Given the description of an element on the screen output the (x, y) to click on. 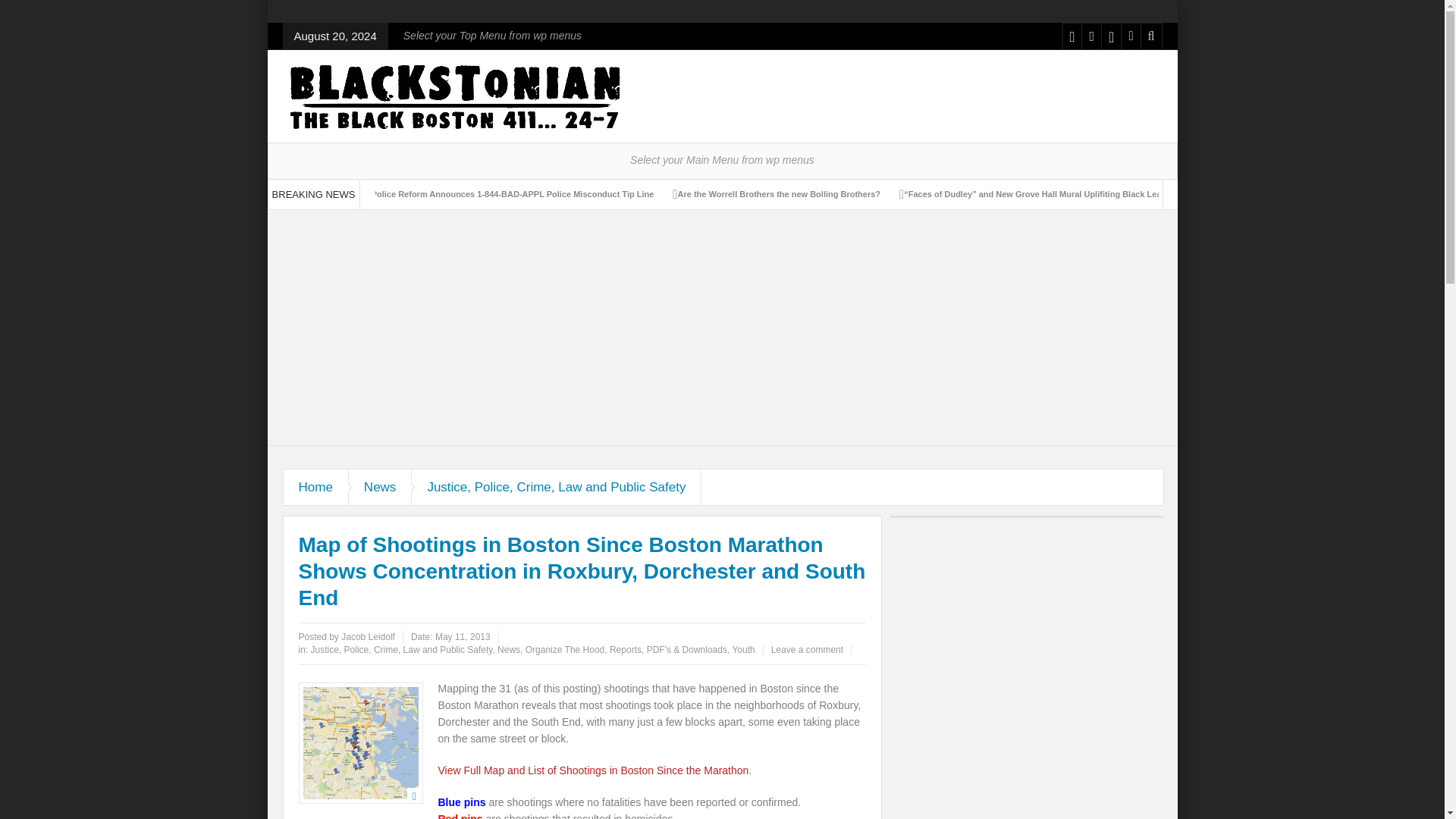
Blackstonian (454, 96)
News (380, 487)
Youth (743, 649)
Home (316, 487)
Justice, Police, Crime, Law and Public Safety (556, 487)
News (380, 487)
Leave a comment (807, 649)
Justice, Police, Crime, Law and Public Safety (556, 487)
